Given the description of an element on the screen output the (x, y) to click on. 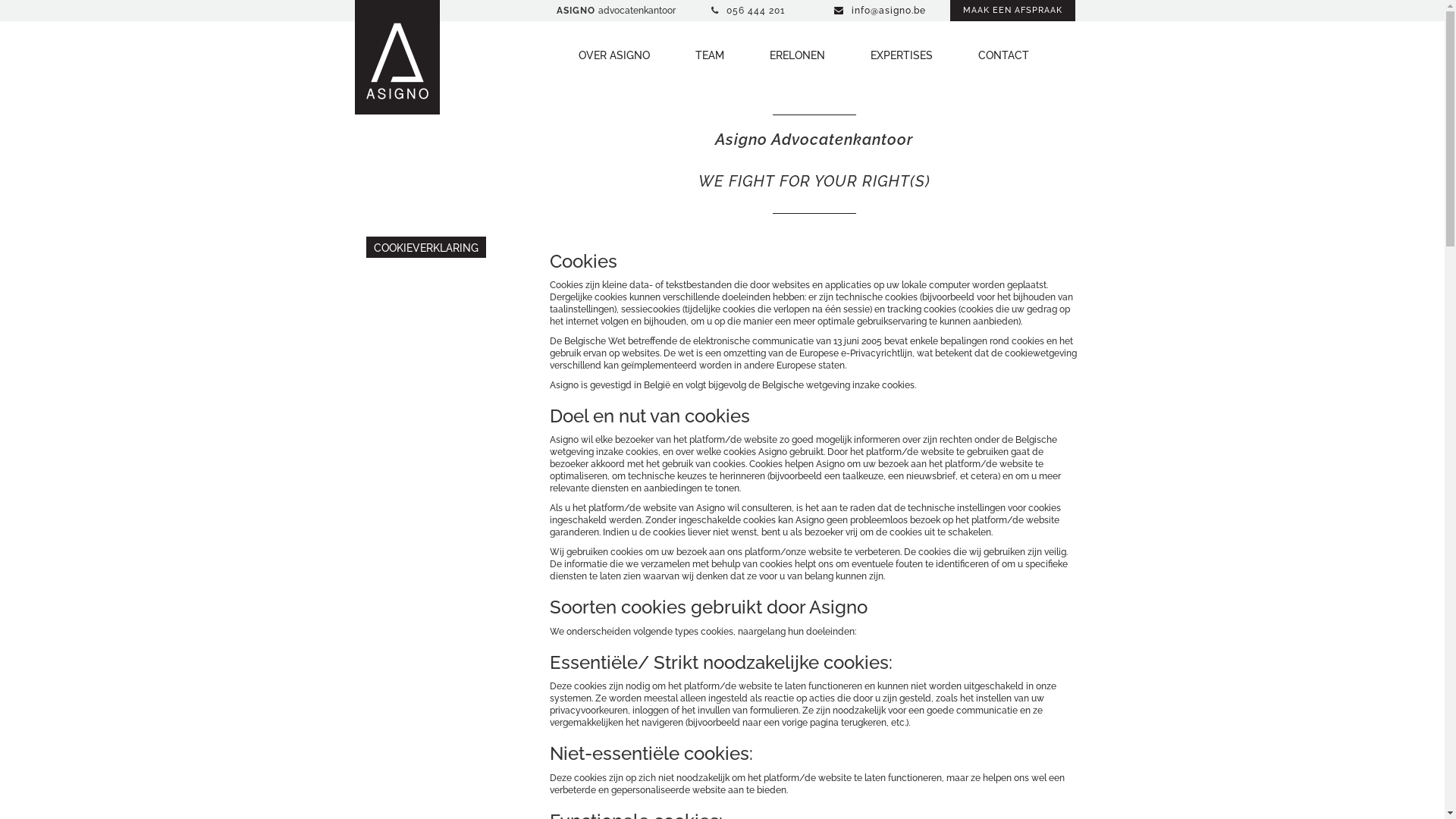
CONTACT Element type: text (1003, 54)
logo Element type: hover (396, 60)
ERELONEN Element type: text (796, 54)
EXPERTISES Element type: text (901, 54)
MAAK EEN AFSPRAAK Element type: text (1012, 10)
OVER ASIGNO Element type: text (613, 54)
info@asigno.be Element type: text (879, 10)
TEAM Element type: text (708, 54)
